Given the description of an element on the screen output the (x, y) to click on. 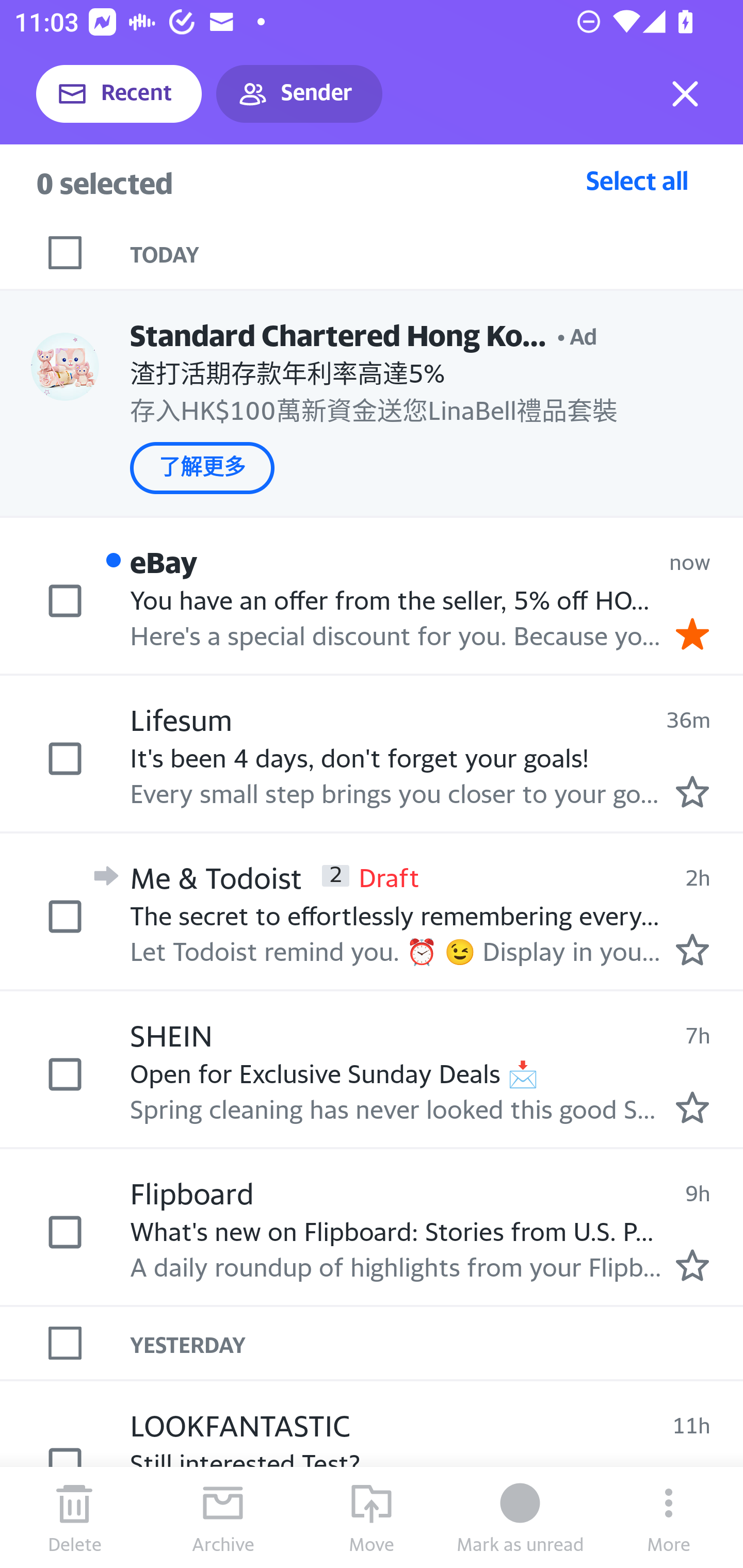
Sender (299, 93)
Exit selection mode (684, 93)
Select all (637, 180)
TODAY (436, 252)
Remove star. (692, 634)
Mark as starred. (692, 791)
Mark as starred. (692, 949)
Mark as starred. (692, 1107)
Mark as starred. (692, 1264)
YESTERDAY (436, 1342)
Delete (74, 1517)
Archive (222, 1517)
Move (371, 1517)
Mark as unread (519, 1517)
More (668, 1517)
